Given the description of an element on the screen output the (x, y) to click on. 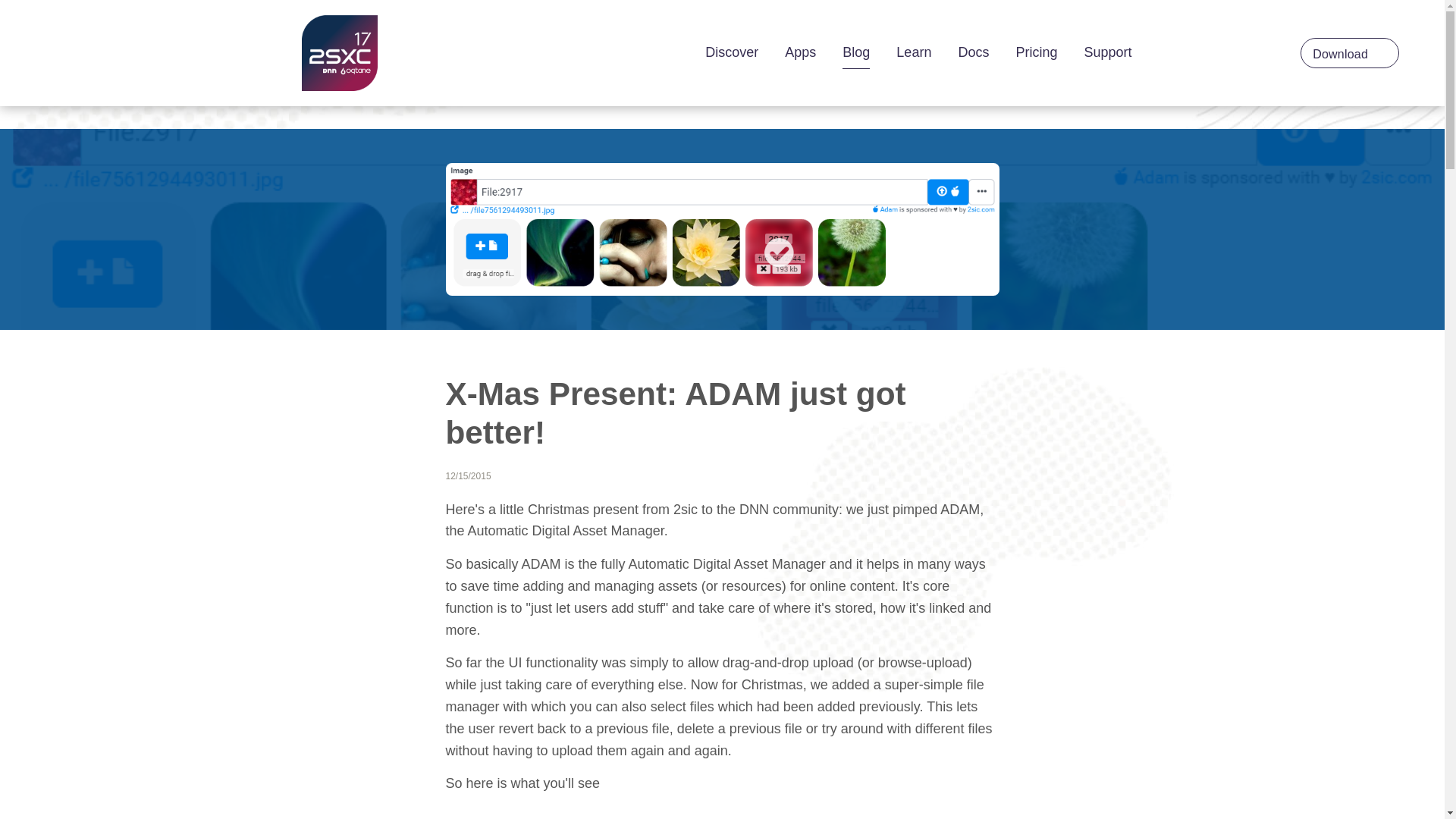
Support (1107, 52)
Pricing (1035, 52)
Docs (973, 52)
Apps (799, 52)
BLOG (388, 162)
2sxc - Fork me on GitHub (339, 52)
Learn (913, 52)
HOME (323, 162)
Download (1349, 52)
